Given the description of an element on the screen output the (x, y) to click on. 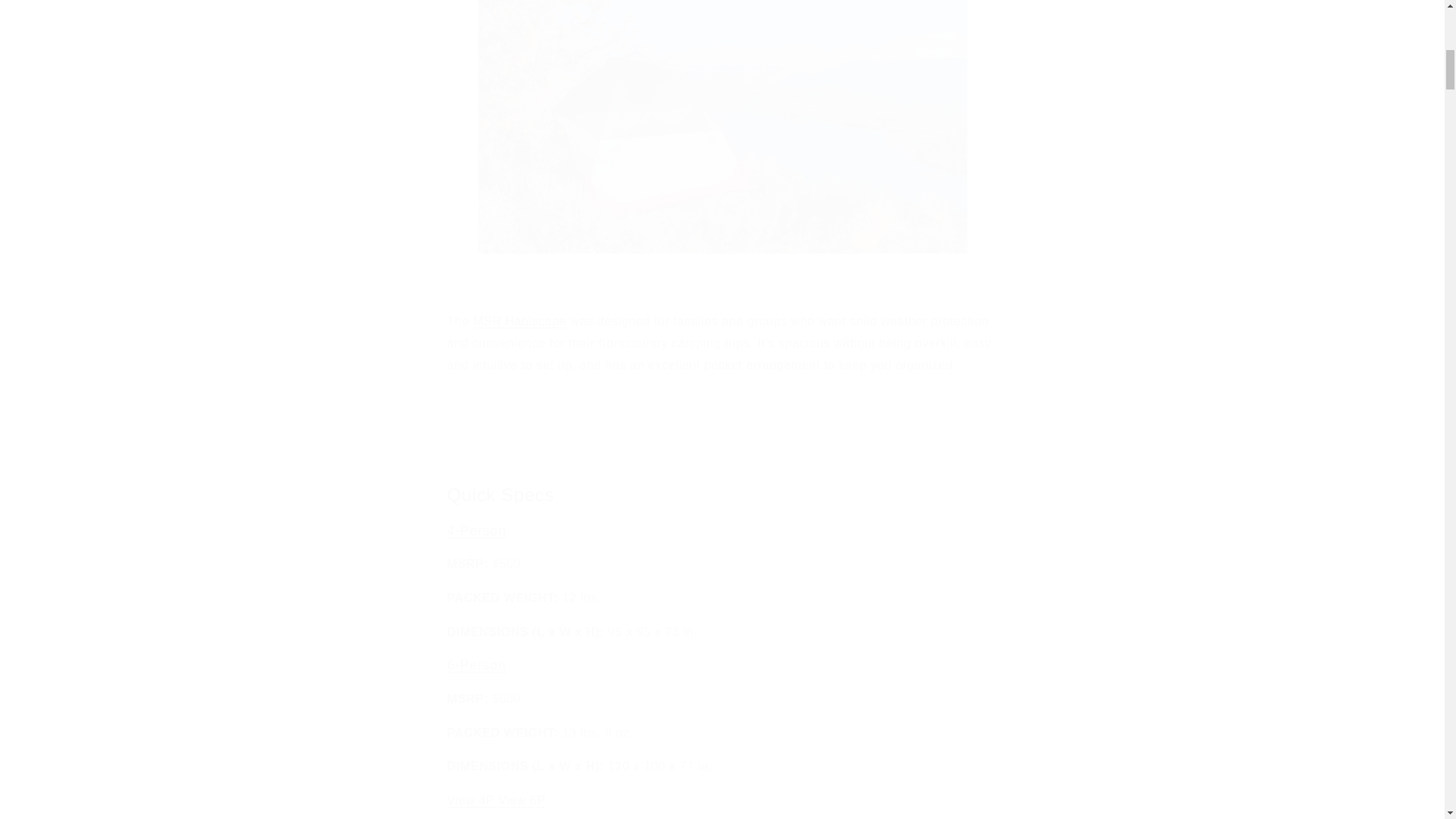
View 4P (471, 799)
View 6P (521, 799)
MSR Habiscape (519, 320)
6-Person (476, 664)
4-Person (476, 530)
